Given the description of an element on the screen output the (x, y) to click on. 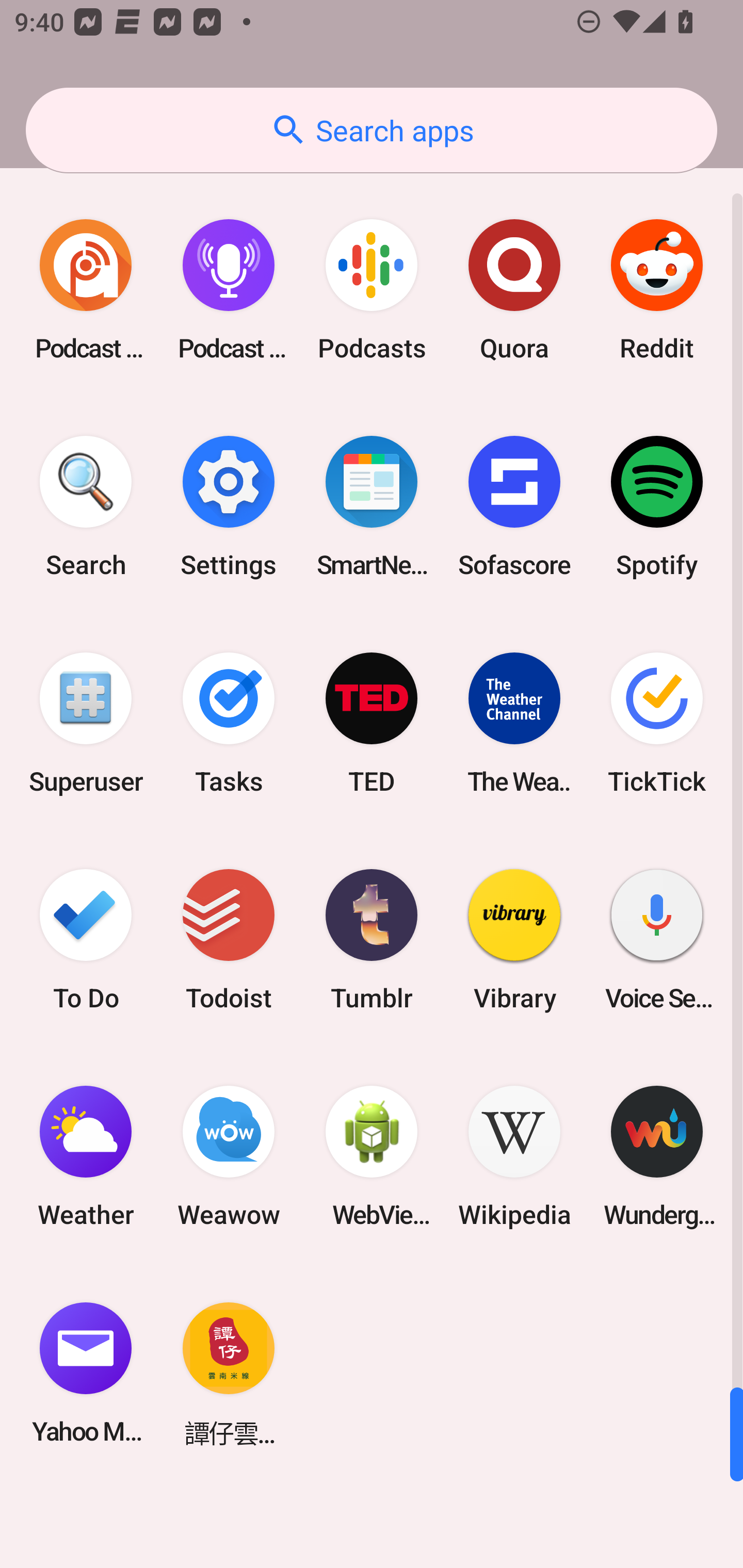
  Search apps (371, 130)
Podcast Addict (85, 289)
Podcast Player (228, 289)
Podcasts (371, 289)
Quora (514, 289)
Reddit (656, 289)
Search (85, 506)
Settings (228, 506)
SmartNews (371, 506)
Sofascore (514, 506)
Spotify (656, 506)
Superuser (85, 722)
Tasks (228, 722)
TED (371, 722)
The Weather Channel (514, 722)
TickTick (656, 722)
To Do (85, 939)
Todoist (228, 939)
Tumblr (371, 939)
Vibrary (514, 939)
Voice Search (656, 939)
Weather (85, 1156)
Weawow (228, 1156)
WebView Browser Tester (371, 1156)
Wikipedia (514, 1156)
Wunderground (656, 1156)
Yahoo Mail (85, 1373)
譚仔雲南米線 (228, 1373)
